Given the description of an element on the screen output the (x, y) to click on. 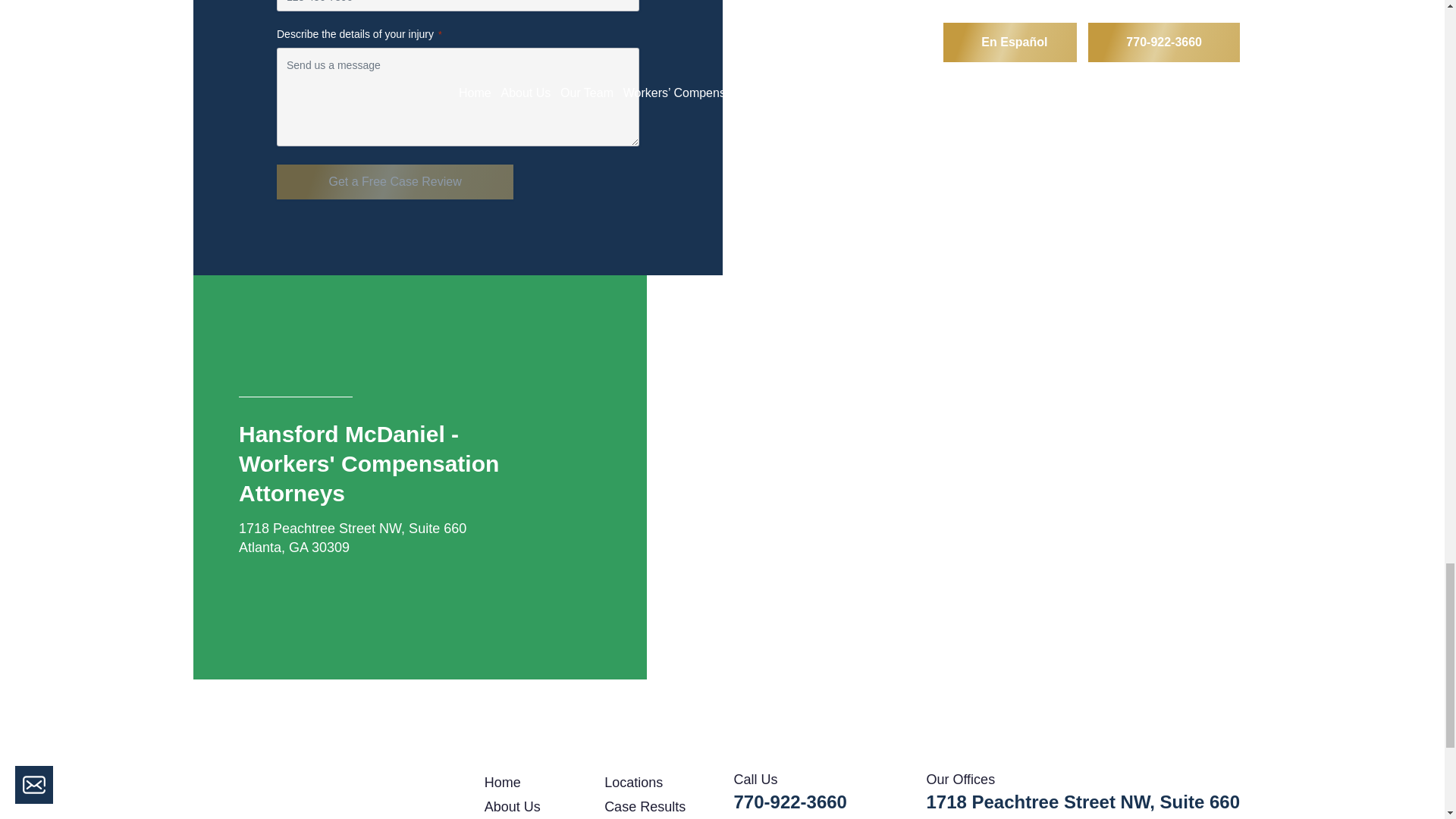
Call Us! (790, 801)
Get a Free Case Review (394, 181)
Google maps our location (785, 47)
Hansford McDaniel - Workers' Compensation Attorneys (325, 794)
